Given the description of an element on the screen output the (x, y) to click on. 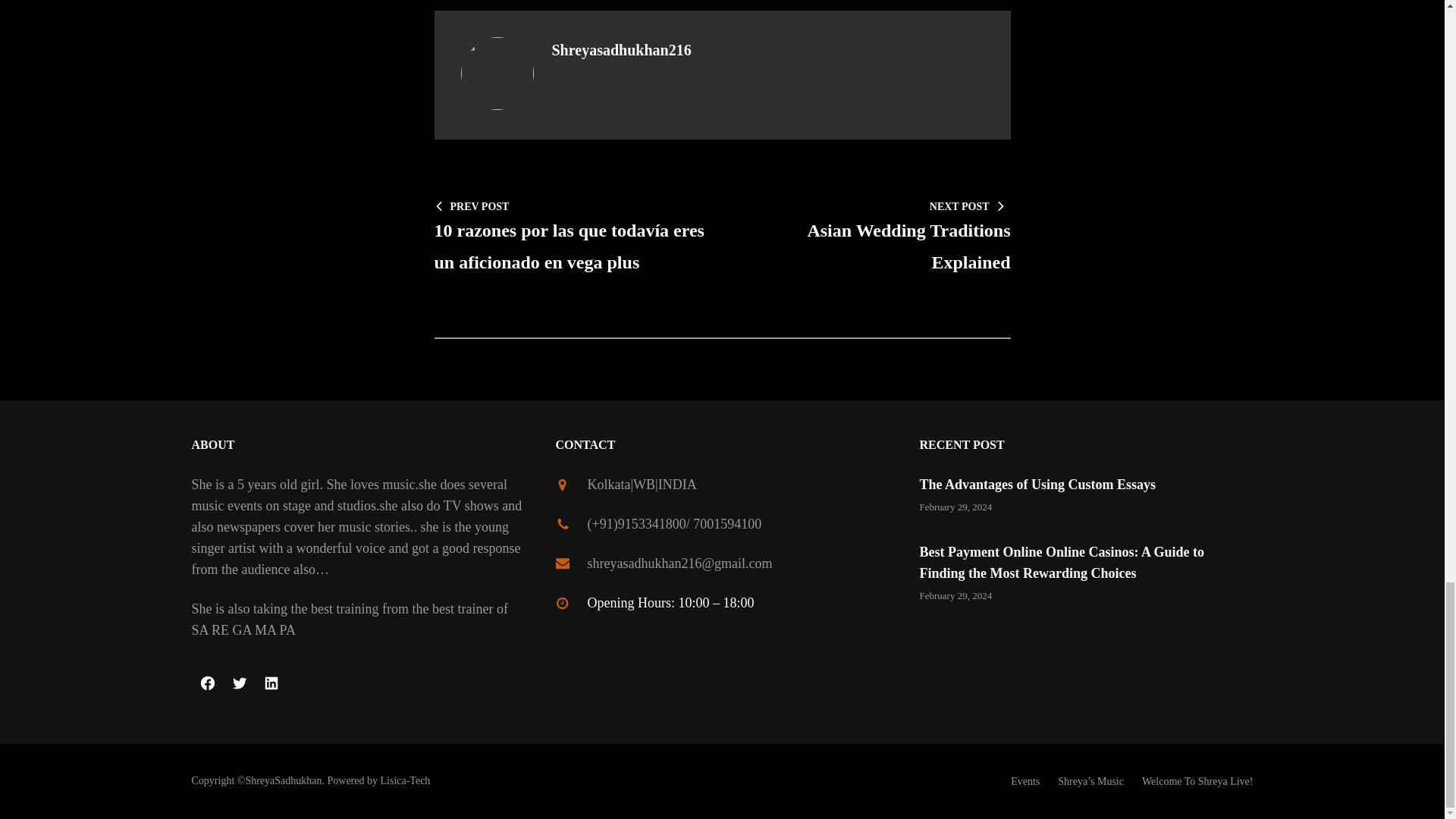
Twitter (238, 683)
The Advantages of Using Custom Essays (873, 235)
Facebook (1037, 484)
LinkedIn (206, 683)
Welcome To Shreya Live! (270, 683)
